Given the description of an element on the screen output the (x, y) to click on. 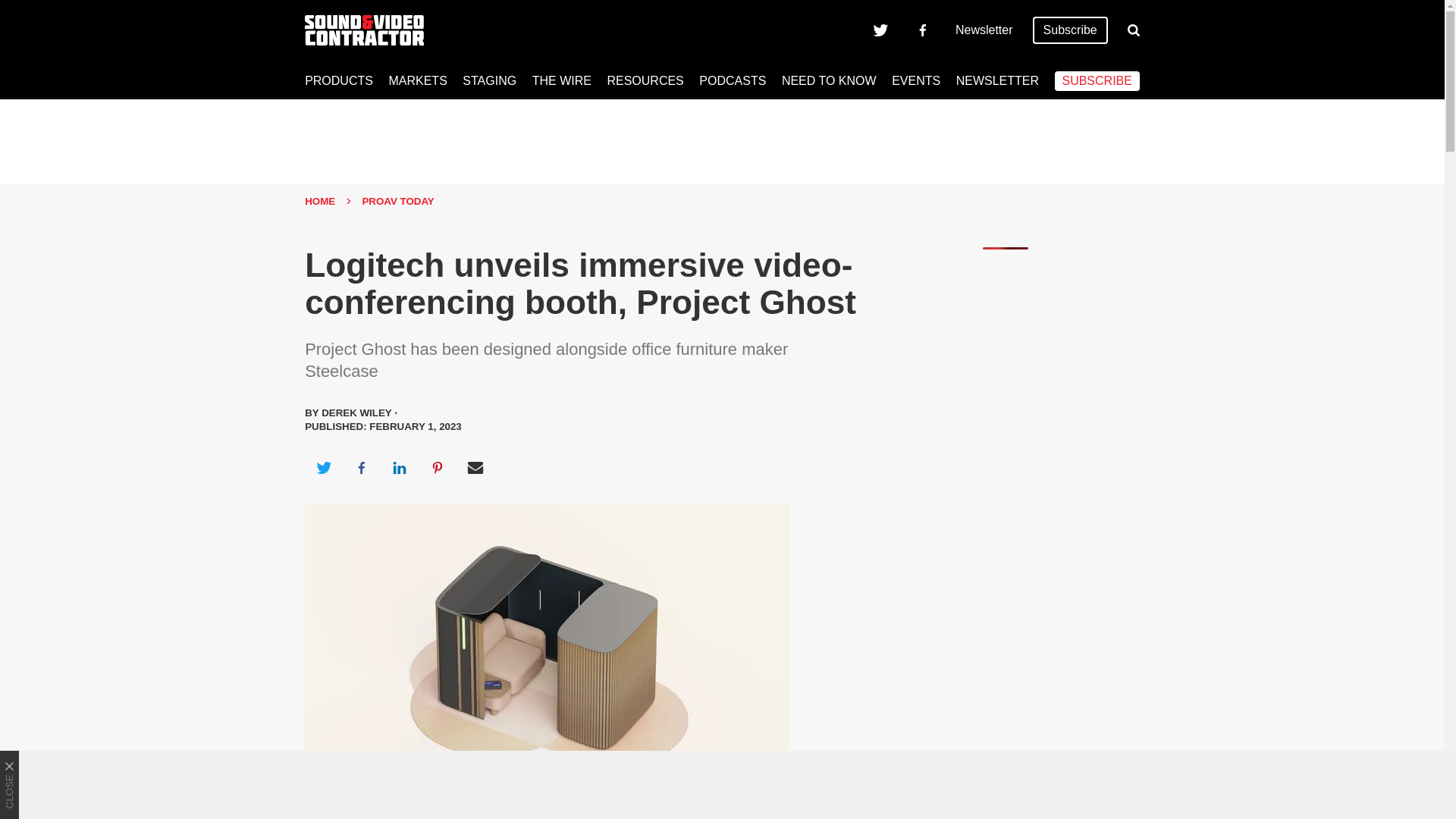
Share on LinkedIn (399, 467)
Share on Pinterest (438, 467)
Share on Twitter (323, 467)
Share via Email (476, 467)
Share on Facebook (361, 467)
